Given the description of an element on the screen output the (x, y) to click on. 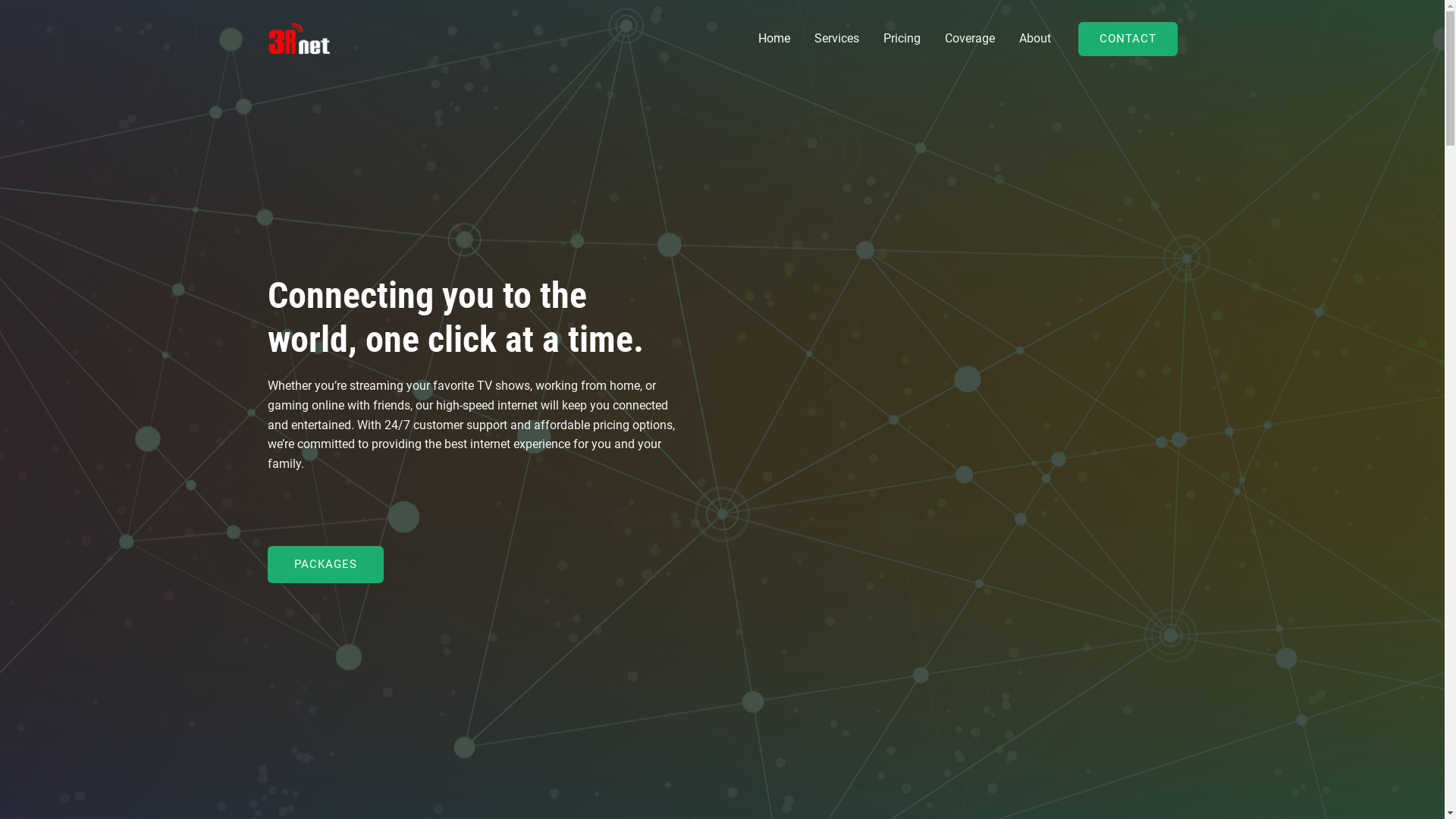
Home Element type: text (774, 38)
CONTACT Element type: text (1127, 38)
PACKAGES Element type: text (324, 564)
Services Element type: text (836, 38)
About Element type: text (1035, 38)
Coverage Element type: text (969, 38)
Pricing Element type: text (900, 38)
